Given the description of an element on the screen output the (x, y) to click on. 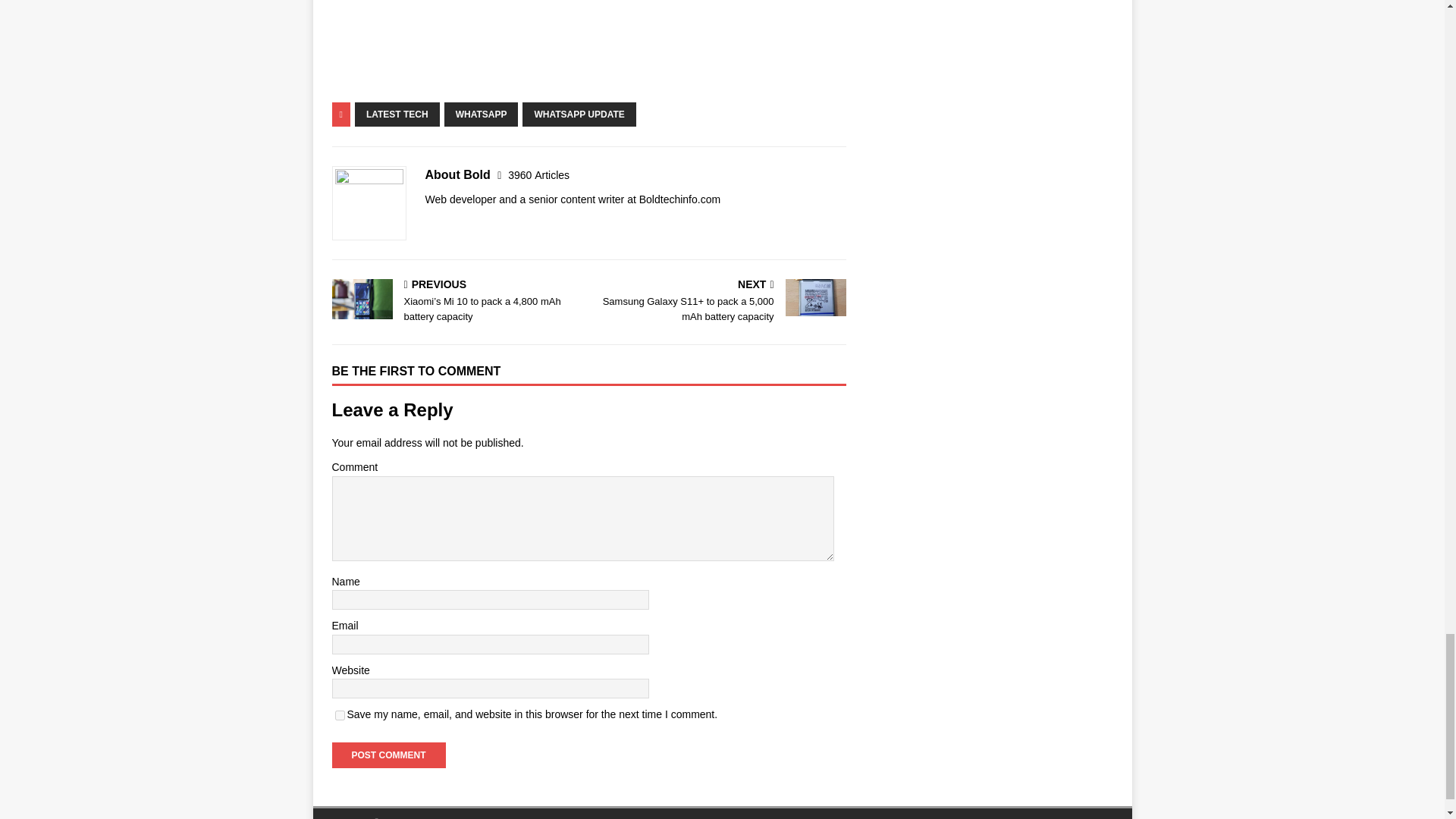
Advertisement (588, 48)
yes (339, 715)
More articles written by Bold' (538, 174)
Post Comment (388, 755)
